Given the description of an element on the screen output the (x, y) to click on. 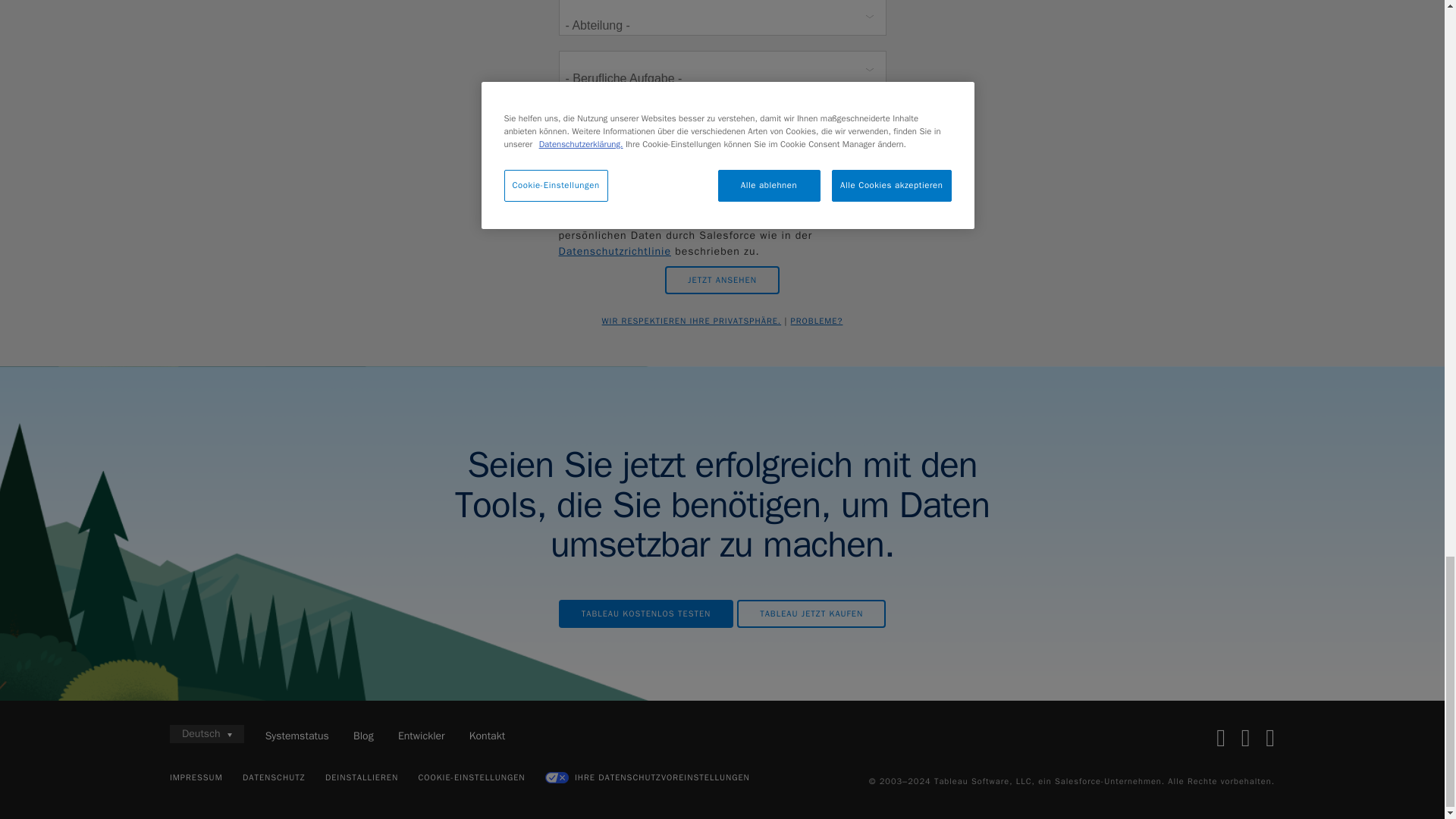
Jetzt ansehen (721, 280)
